Given the description of an element on the screen output the (x, y) to click on. 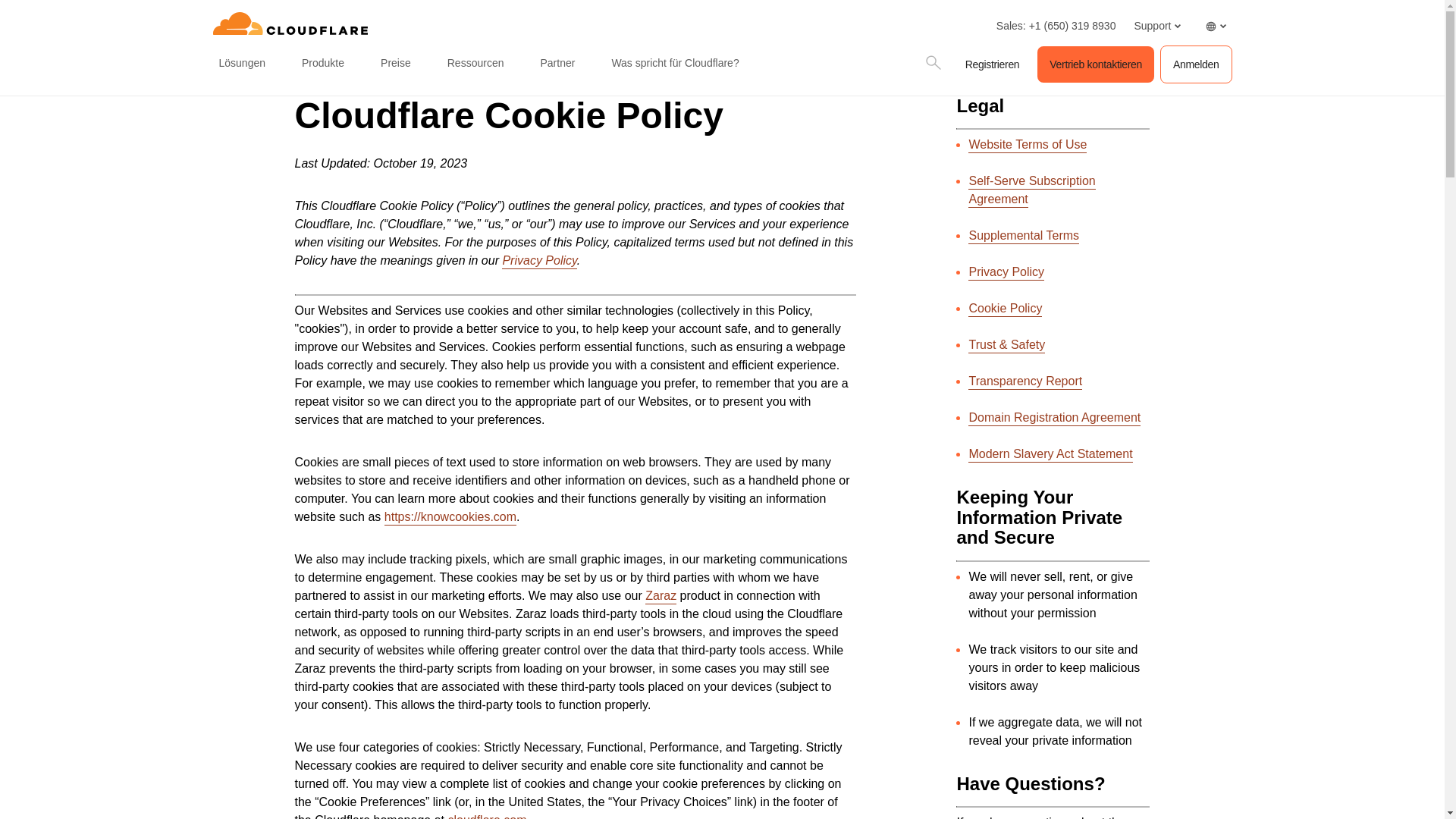
Privacy Policy (539, 261)
Vertrieb kontaktieren (1095, 63)
Registrieren (992, 63)
Anmelden (1195, 64)
cloudflare.com (485, 816)
Ressourcen (476, 63)
Zaraz (661, 596)
Partner (557, 63)
Preise (395, 63)
Support (1156, 26)
Produkte (322, 63)
